Given the description of an element on the screen output the (x, y) to click on. 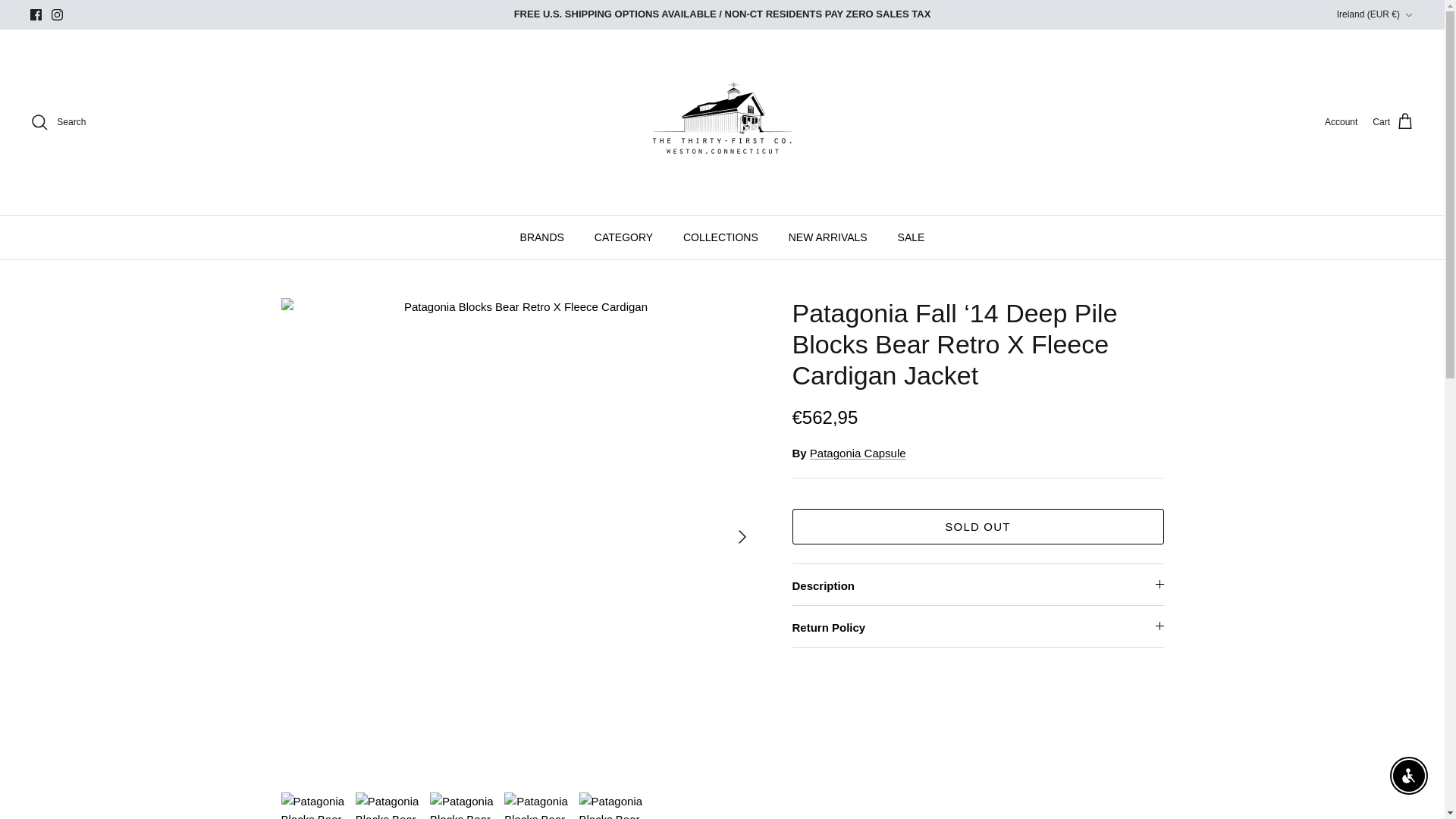
Facebook (36, 14)
Search (57, 122)
Instagram (56, 14)
Instagram (56, 14)
Facebook (36, 14)
Down (1408, 14)
The Thirty-First Co. (722, 122)
RIGHT (741, 536)
